Given the description of an element on the screen output the (x, y) to click on. 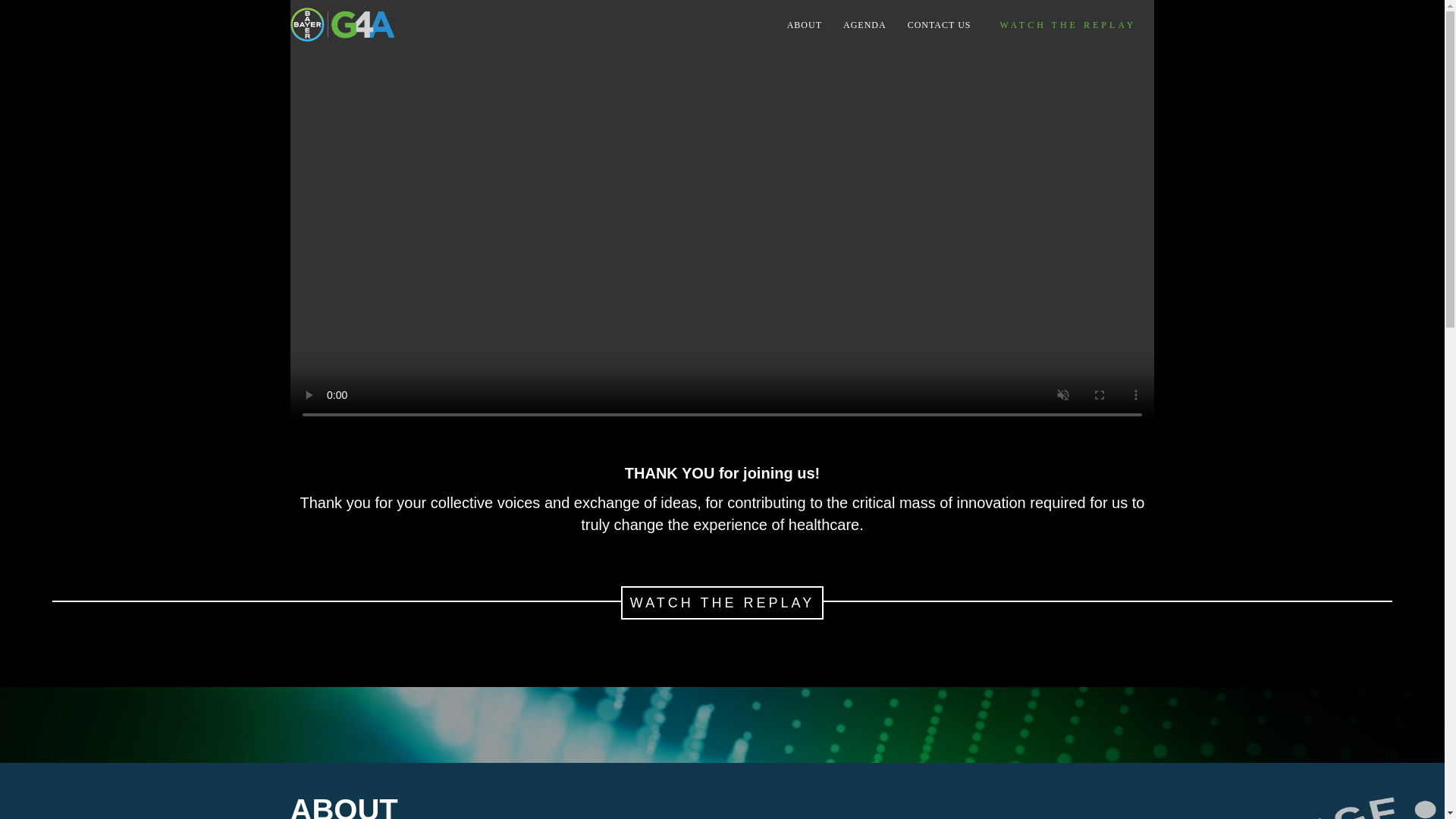
WATCH THE REPLAY (1067, 24)
WATCH THE REPLAY (721, 602)
AGENDA (864, 24)
WATCH THE REPLAY (1067, 24)
ABOUT (804, 24)
ABOUT (804, 24)
CONTACT US (938, 24)
Agenda (864, 24)
WATCH THE REPLAY (722, 602)
CONTACT US (938, 24)
